Given the description of an element on the screen output the (x, y) to click on. 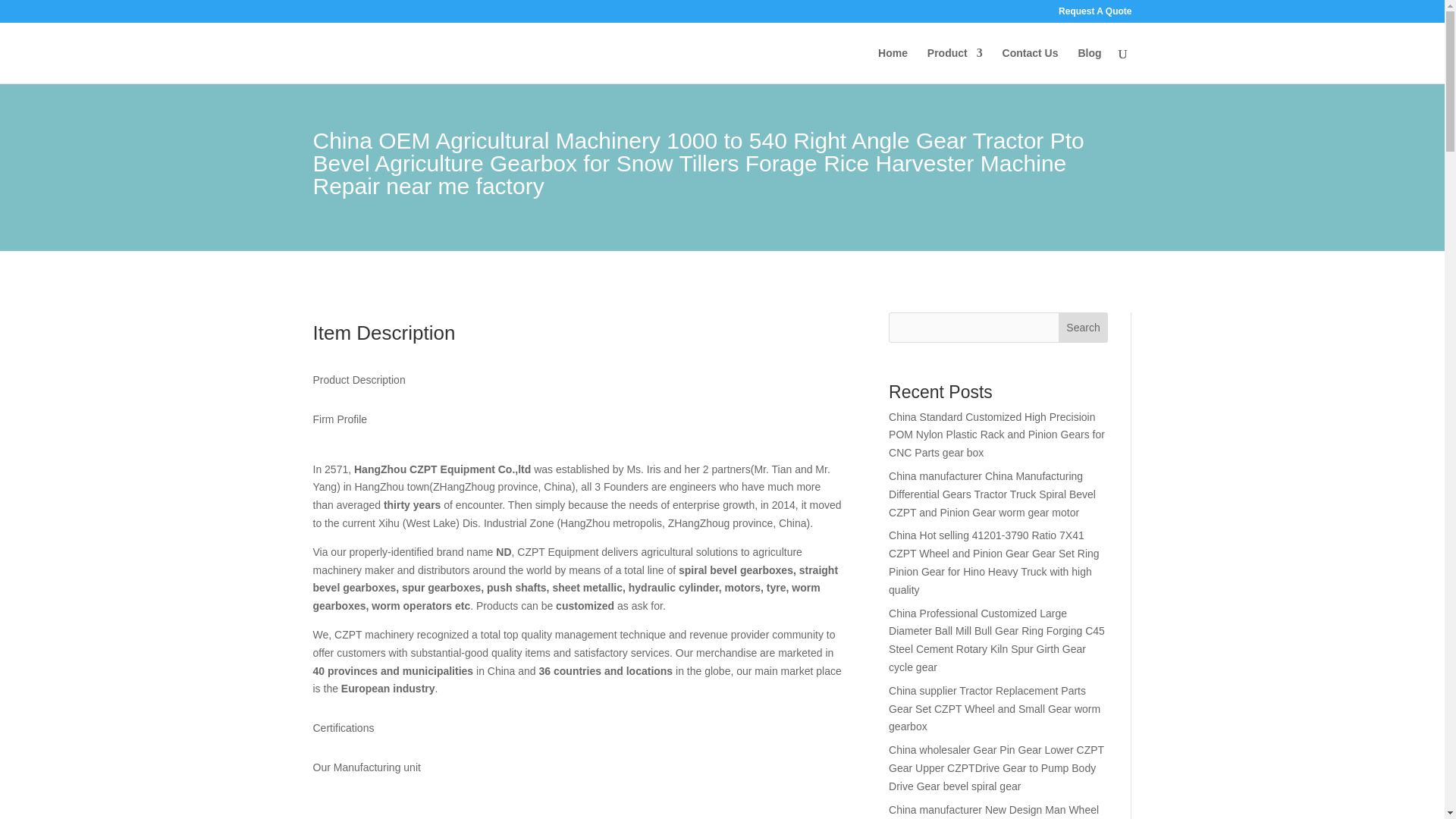
Contact Us (1030, 65)
Request A Quote (1094, 14)
Product (954, 65)
